Given the description of an element on the screen output the (x, y) to click on. 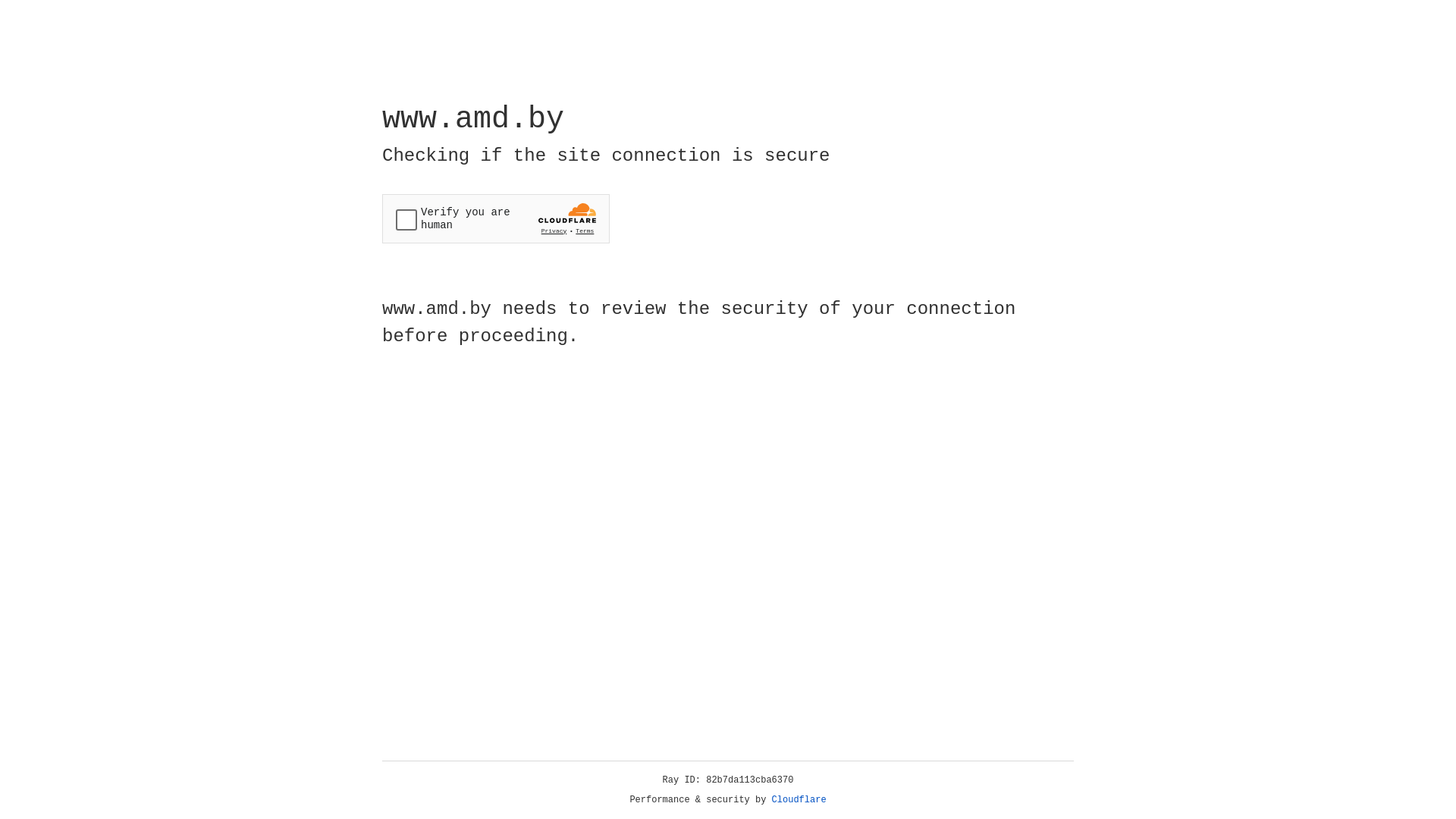
Widget containing a Cloudflare security challenge Element type: hover (495, 218)
Cloudflare Element type: text (798, 799)
